Given the description of an element on the screen output the (x, y) to click on. 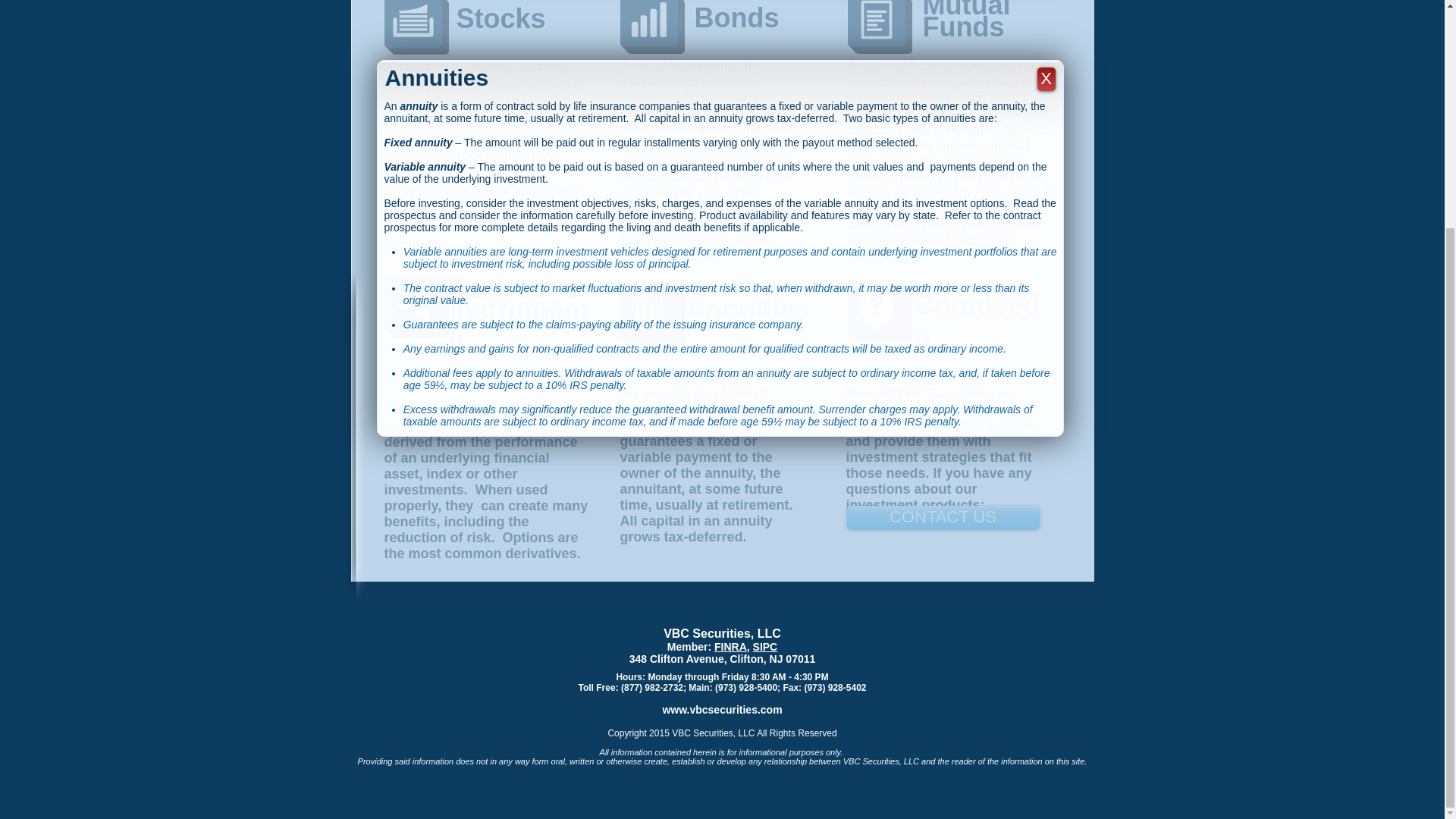
CONTACT US (942, 517)
www.vbcsecurities.com (721, 709)
FINRA (730, 646)
calculator-2-xxl.png (647, 310)
decision-xxl.png (877, 306)
SIPC (764, 646)
sharethis-xxl.png (412, 302)
